Given the description of an element on the screen output the (x, y) to click on. 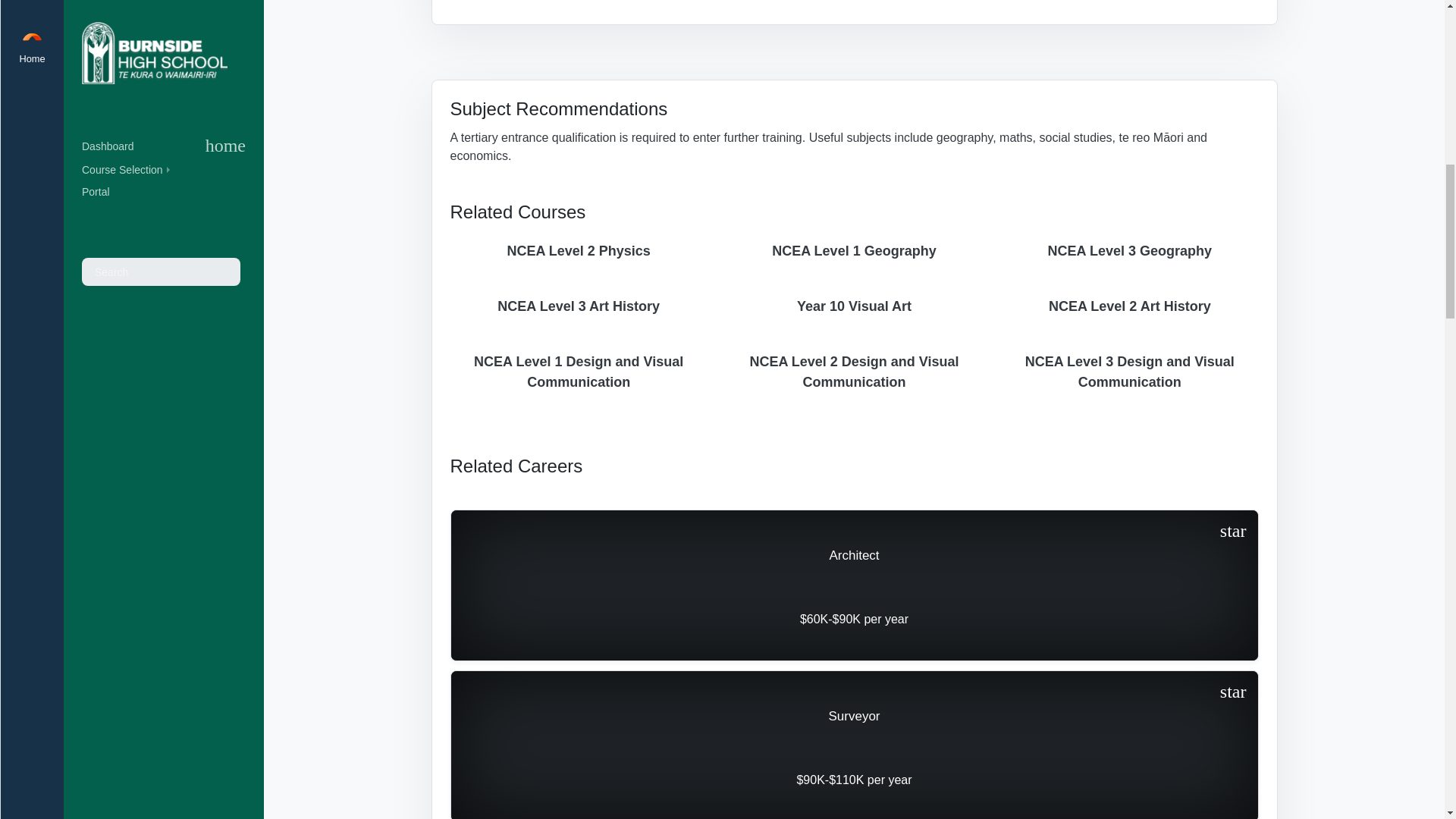
NCEA Level 2 Physics (578, 251)
NCEA Level 3 Design and Visual Communication (1129, 372)
NCEA Level 2 Design and Visual Communication (853, 372)
star (1233, 692)
NCEA Level 1 Design and Visual Communication (578, 372)
NCEA Level 1 Geography (853, 251)
Year 10 Visual Art (853, 306)
NCEA Level 3 Geography (1129, 251)
star (1233, 531)
NCEA Level 2 Art History (1129, 306)
